Given the description of an element on the screen output the (x, y) to click on. 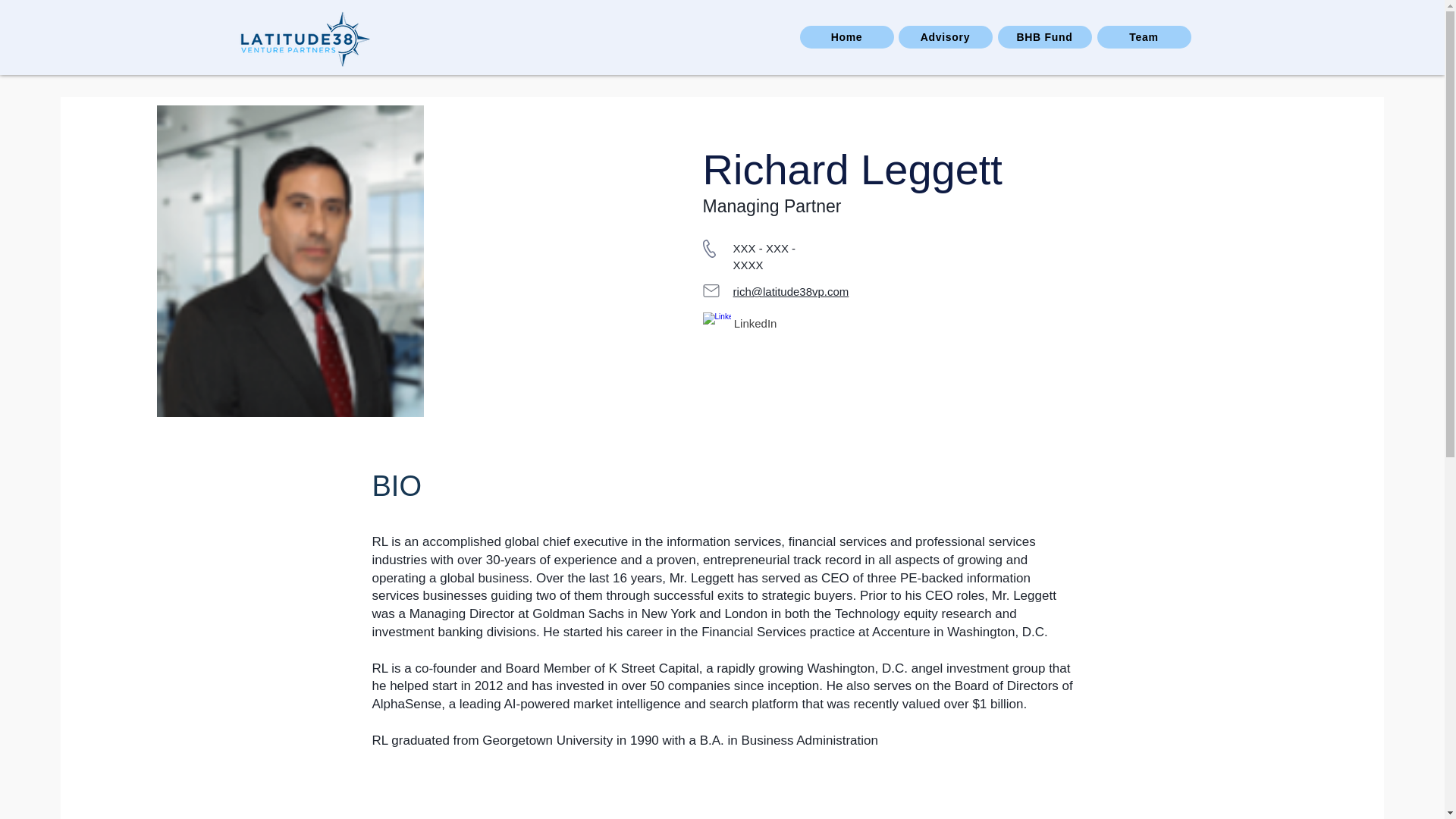
Advisory (944, 36)
Primary.png (302, 37)
BHB Fund (1044, 36)
Home (846, 36)
Team (1143, 36)
LinkedIn (756, 322)
